Given the description of an element on the screen output the (x, y) to click on. 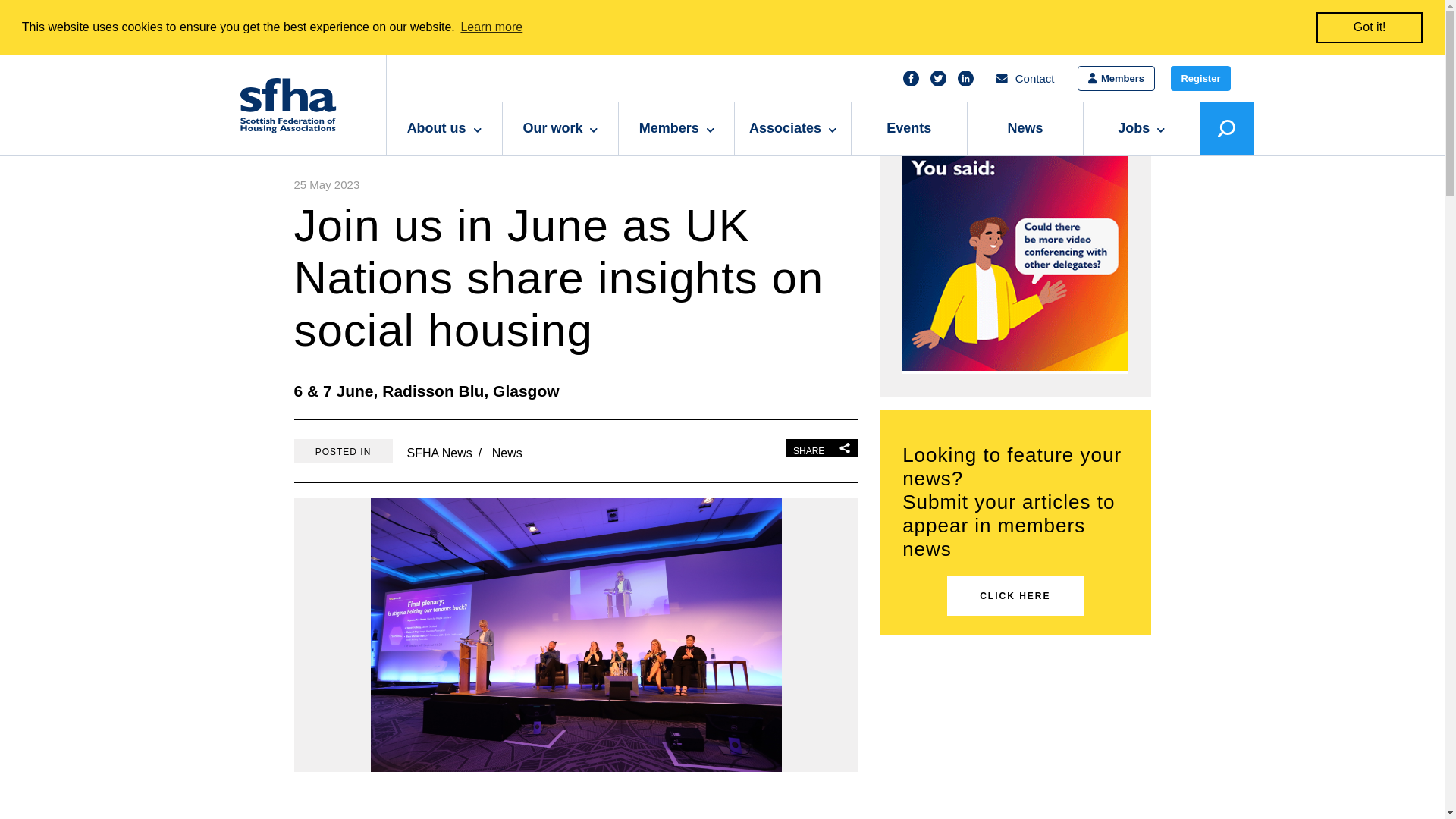
About us (444, 128)
Members (1115, 78)
Twitter (938, 78)
Facebook (911, 78)
LinkedIn (965, 78)
Got it! (1369, 27)
Learn more (491, 26)
Our work (559, 128)
Associates (792, 128)
Sign in (1115, 78)
Contact (1025, 78)
Register (1200, 78)
Members (675, 128)
Open Search (1226, 128)
